Given the description of an element on the screen output the (x, y) to click on. 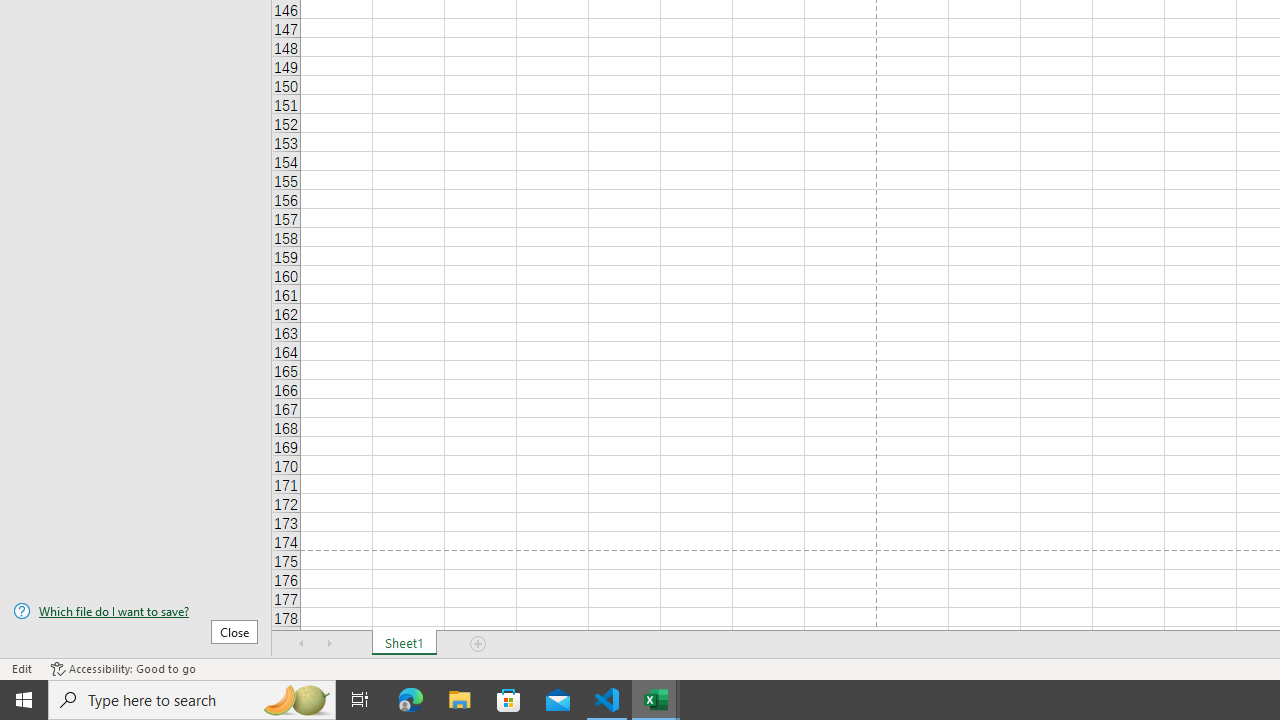
Which file do I want to save? (136, 611)
